Given the description of an element on the screen output the (x, y) to click on. 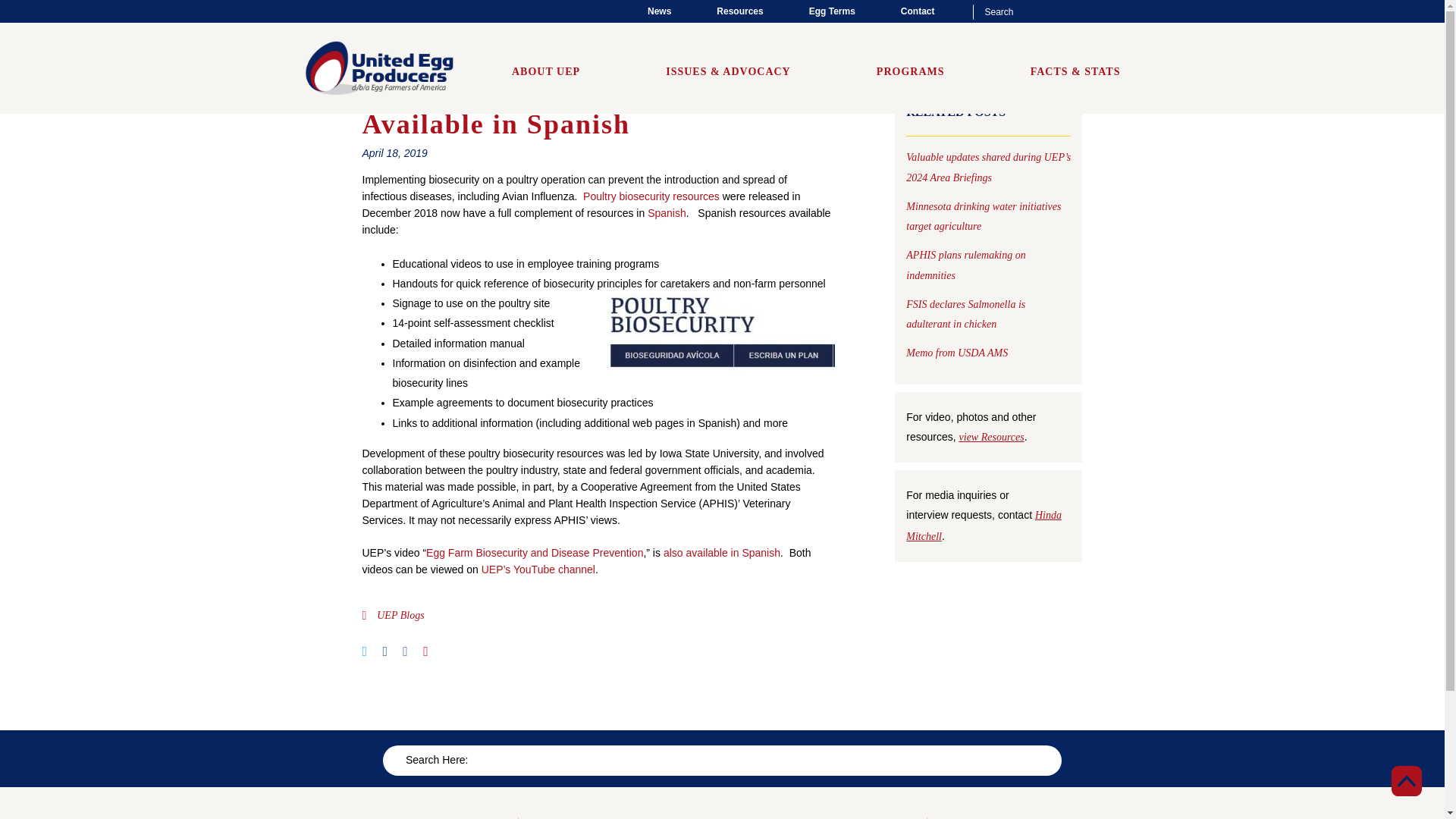
Back to All Posts (722, 21)
PROGRAMS (910, 71)
About UEP (545, 71)
Contact (917, 11)
Spanish (666, 212)
News (659, 11)
Egg Terms (832, 11)
Egg Terms (832, 11)
UEP Blogs (400, 614)
Search for: (1051, 11)
